Given the description of an element on the screen output the (x, y) to click on. 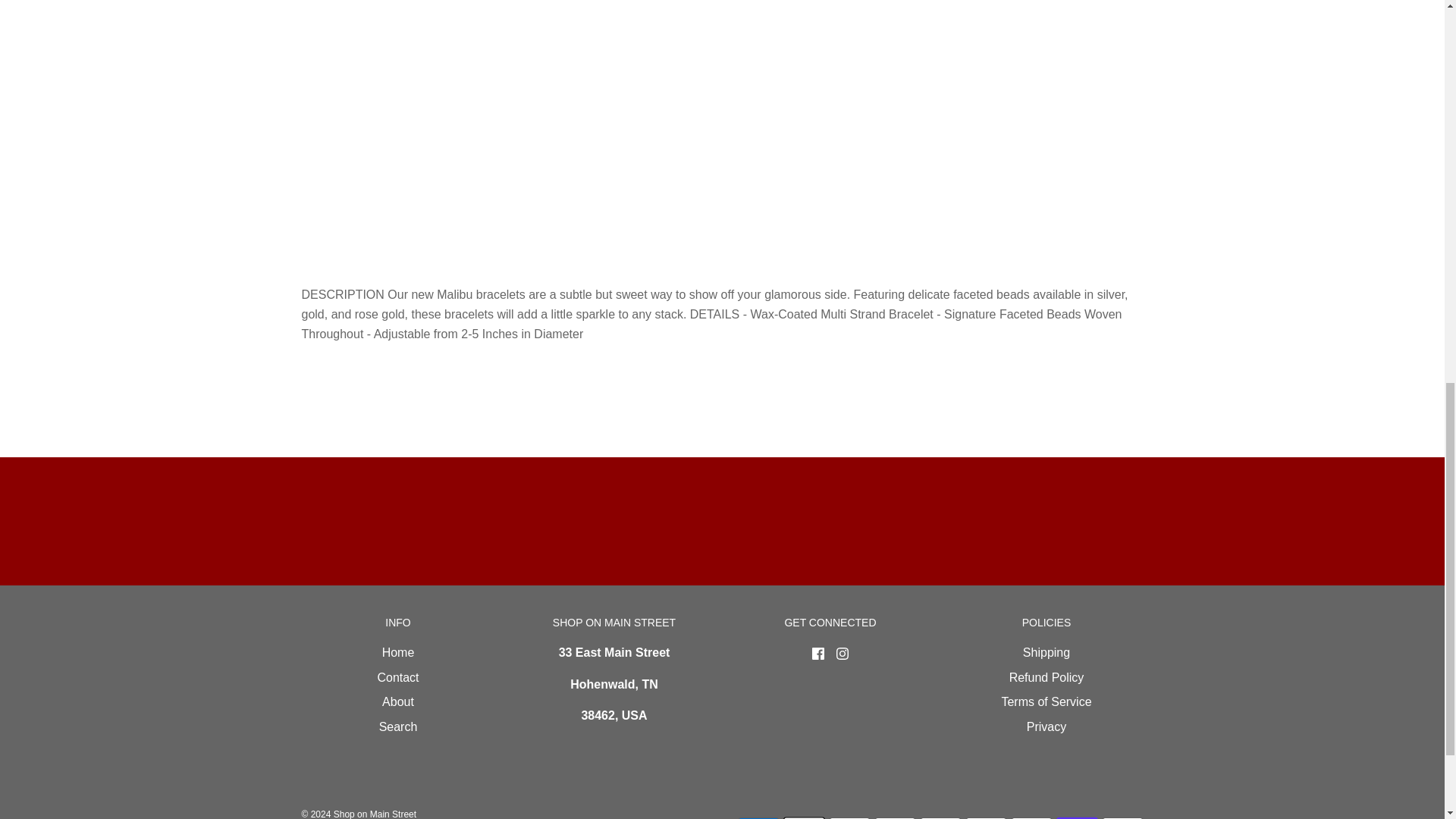
Shop Pay (1076, 816)
Visa (1121, 816)
Facebook icon (818, 653)
Apple Pay (803, 816)
Diners Club (848, 816)
American Express (757, 816)
Google Pay (984, 816)
Meta Pay (939, 816)
Mastercard (1030, 816)
Discover (894, 816)
